Given the description of an element on the screen output the (x, y) to click on. 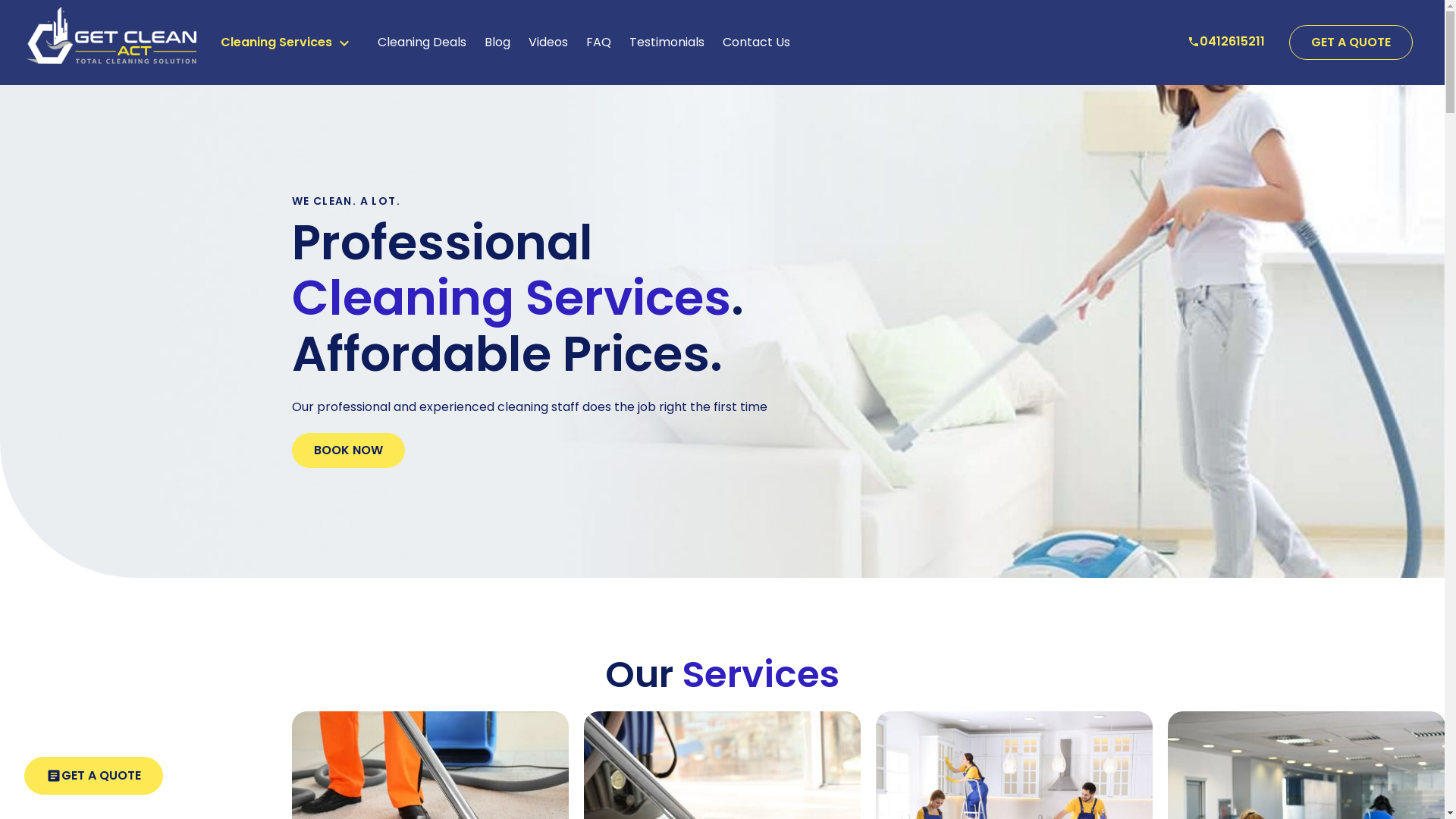
Blog Element type: text (496, 42)
FAQ Element type: text (597, 42)
Contact Us Element type: text (755, 42)
Testimonials Element type: text (666, 42)
Cleaning Services Element type: text (510, 297)
article
GET A QUOTE Element type: text (93, 775)
GET A QUOTE Element type: text (1350, 42)
phone
0412615211 Element type: text (1225, 40)
Videos Element type: text (547, 42)
Cleaning Deals Element type: text (421, 42)
Services Element type: text (760, 673)
BOOK NOW Element type: text (347, 450)
Cleaning Services expand_more Element type: text (285, 42)
